Given the description of an element on the screen output the (x, y) to click on. 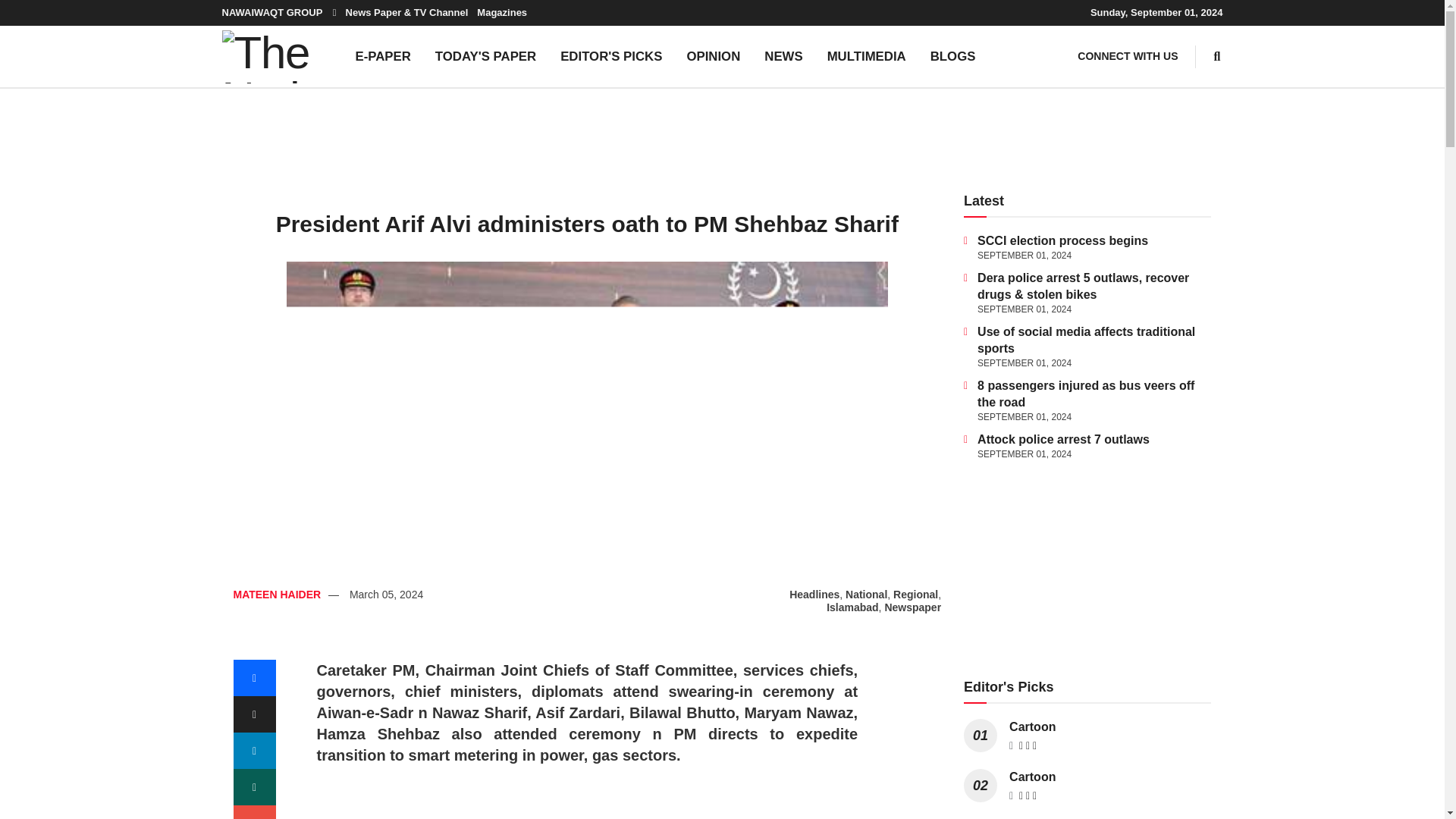
TODAY'S PAPER (485, 55)
NEWS (782, 55)
OPINION (713, 55)
EDITOR'S PICKS (611, 55)
Magazines (502, 12)
MULTIMEDIA (866, 55)
BLOGS (953, 55)
E-PAPER (382, 55)
